Given the description of an element on the screen output the (x, y) to click on. 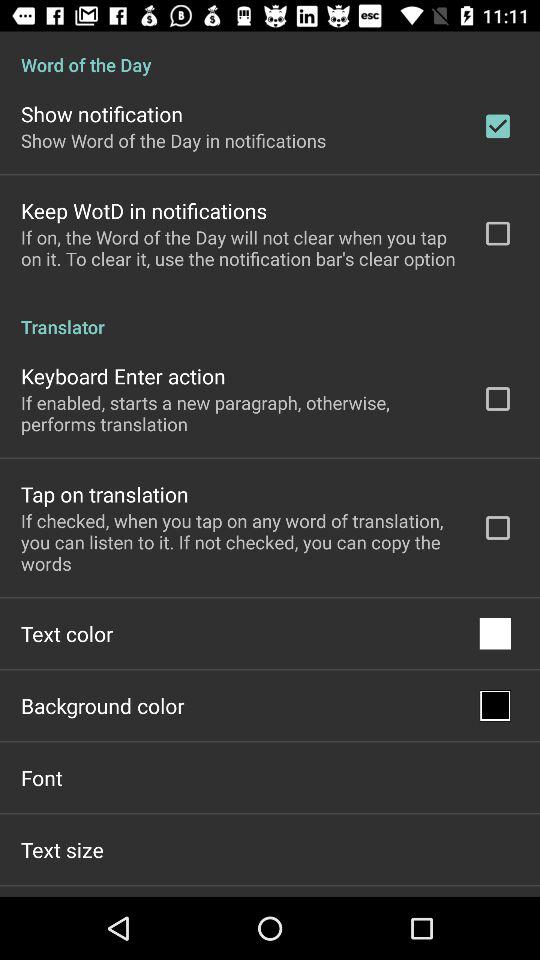
press app next to the text color item (495, 633)
